Given the description of an element on the screen output the (x, y) to click on. 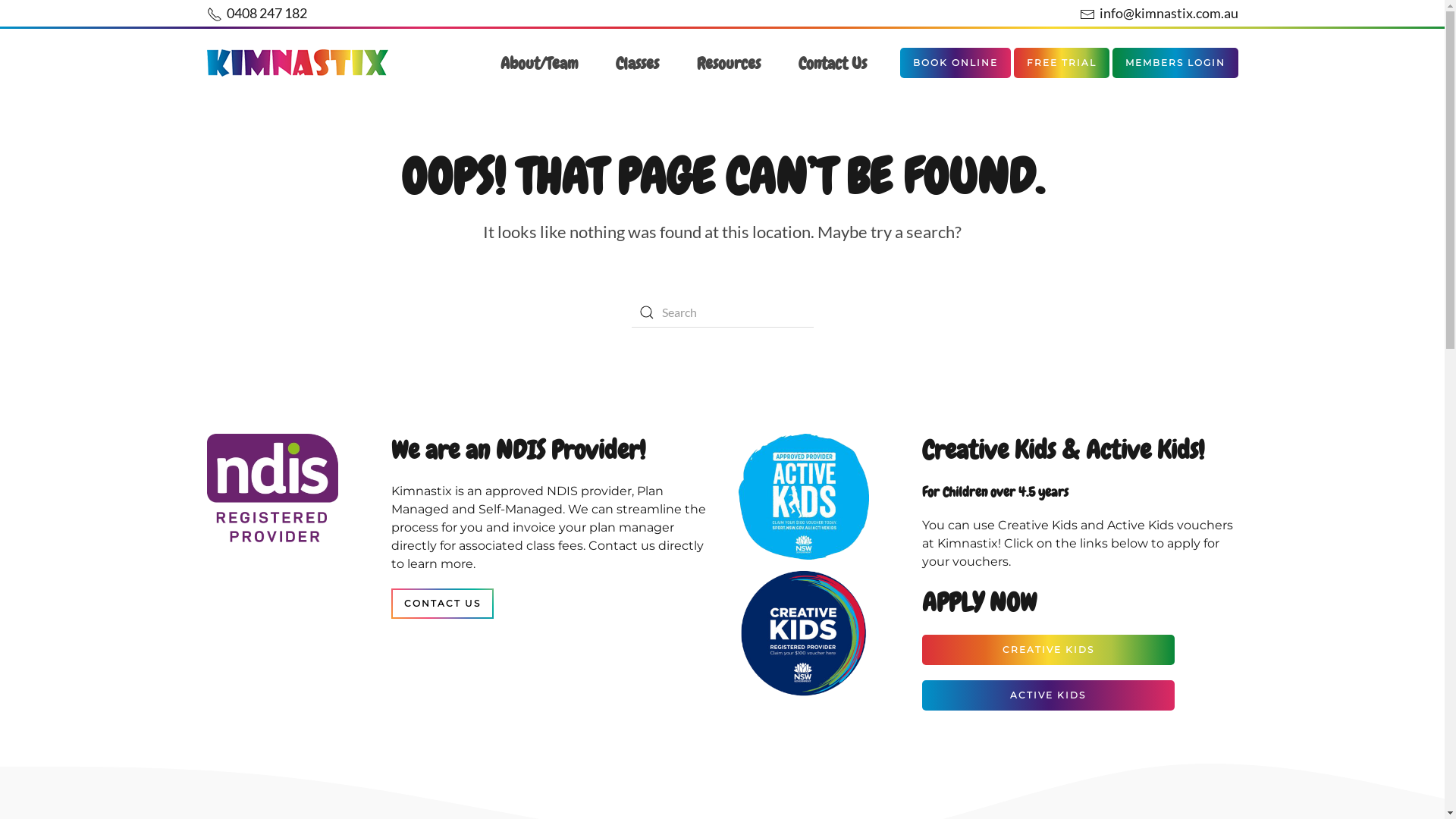
About/Team Element type: text (538, 62)
MEMBERS LOGIN Element type: text (1174, 62)
Resources Element type: text (727, 62)
  0408 247 182 Element type: text (256, 12)
FREE TRIAL Element type: text (1060, 62)
ACTIVE KIDS Element type: text (1048, 695)
CREATIVE KIDS Element type: text (1048, 649)
CONTACT US Element type: text (442, 603)
BOOK ONLINE Element type: text (954, 62)
Classes Element type: text (637, 62)
  info@kimnastix.com.au Element type: text (1158, 12)
Contact Us Element type: text (831, 62)
